Given the description of an element on the screen output the (x, y) to click on. 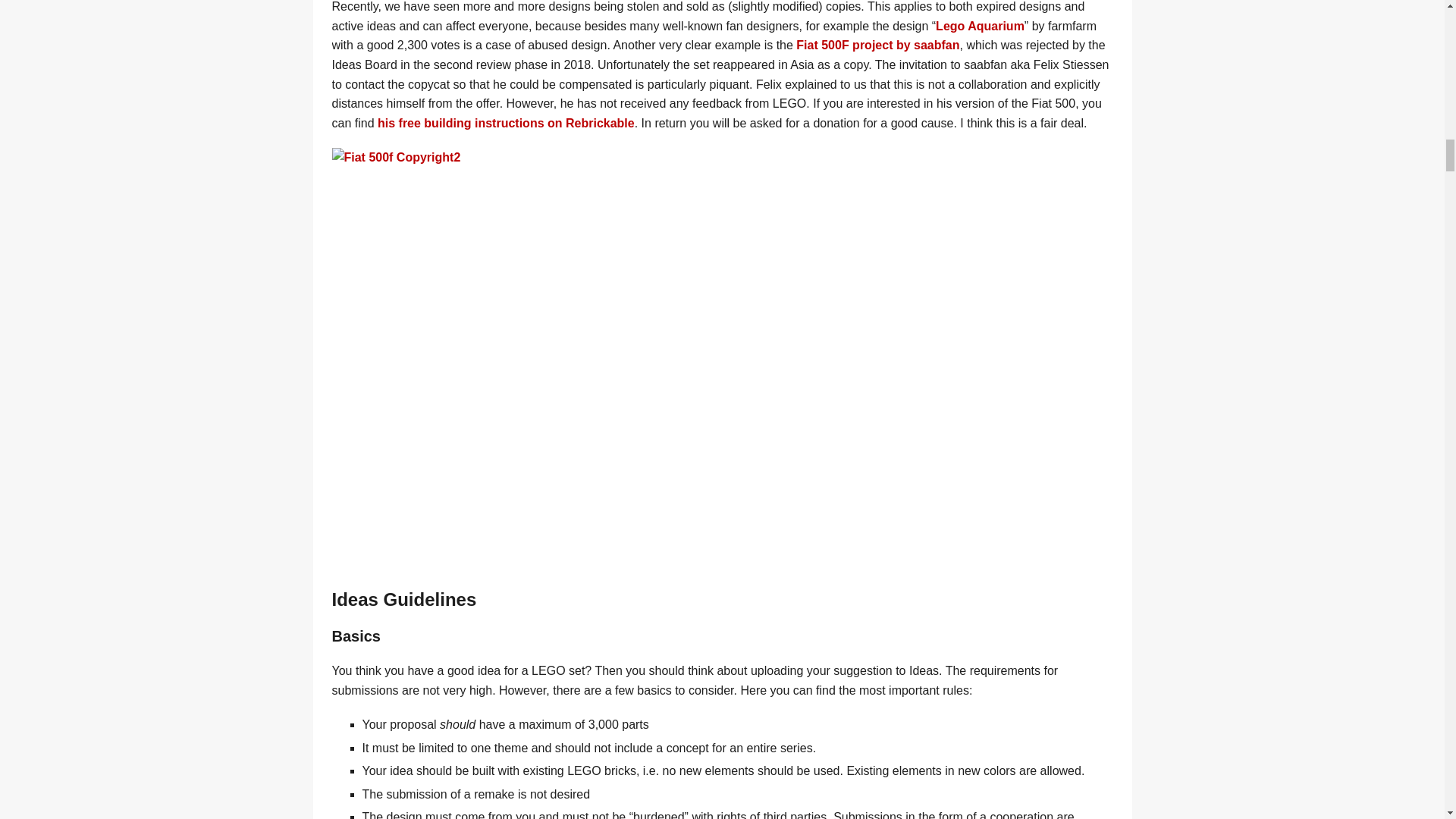
his free building instructions on Rebrickable (505, 123)
Fiat 500F project by saabfan (877, 44)
Lego Aquarium (980, 25)
